Given the description of an element on the screen output the (x, y) to click on. 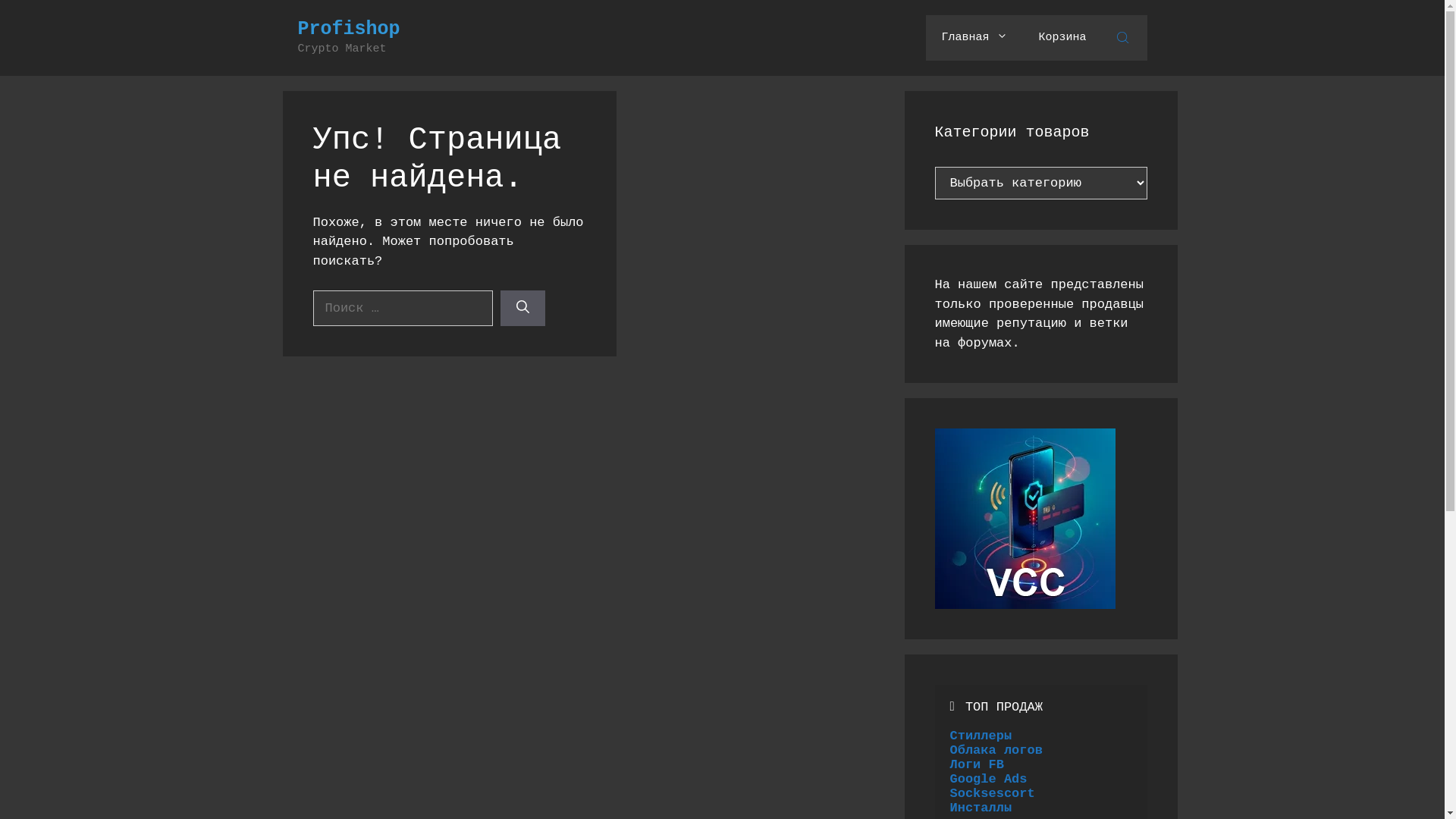
Profishop Element type: text (348, 29)
Google Ads Element type: text (987, 778)
Socksescort Element type: text (991, 793)
